Given the description of an element on the screen output the (x, y) to click on. 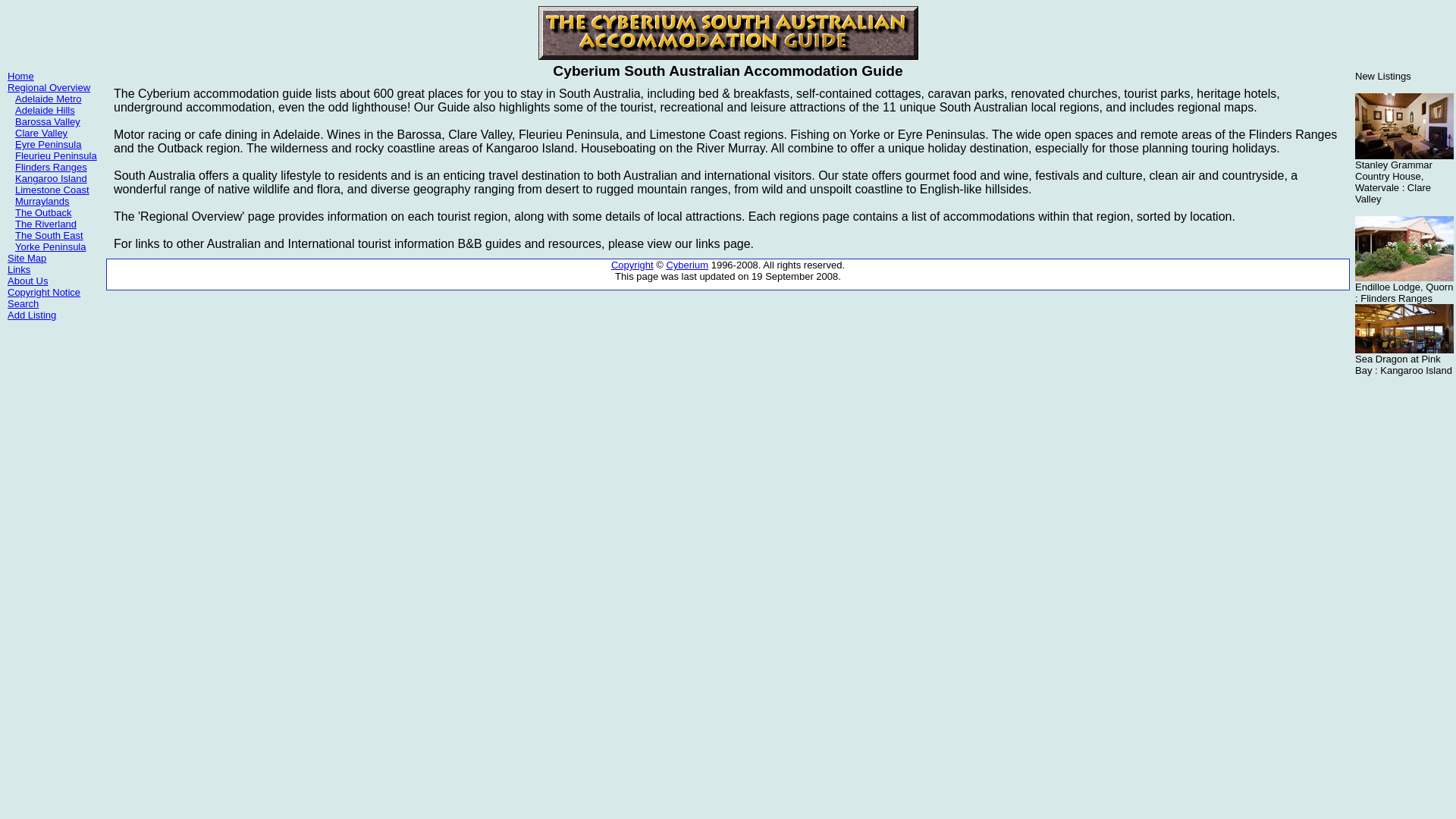
The Riverland Element type: text (45, 223)
Flinders Ranges Element type: text (51, 166)
Add Listing Element type: text (31, 314)
Eyre Peninsula Element type: text (48, 144)
Limestone Coast Element type: text (52, 189)
Copyright Element type: text (632, 264)
Links Element type: text (18, 269)
Home Element type: text (20, 75)
Copyright Notice Element type: text (43, 292)
Clare Valley Element type: text (41, 132)
Search Element type: text (22, 303)
Adelaide Metro Element type: text (48, 98)
Fleurieu Peninsula Element type: text (56, 155)
About Us Element type: text (27, 280)
The South East Element type: text (49, 235)
Kangaroo Island Element type: text (51, 178)
Site Map Element type: text (26, 257)
The Outback Element type: text (43, 212)
Barossa Valley Element type: text (47, 121)
Regional Overview Element type: text (48, 87)
Advertisement Element type: hover (52, 425)
Murraylands Element type: text (42, 201)
Yorke Peninsula Element type: text (50, 246)
Cyberium Element type: text (686, 264)
Adelaide Hills Element type: text (45, 110)
